Given the description of an element on the screen output the (x, y) to click on. 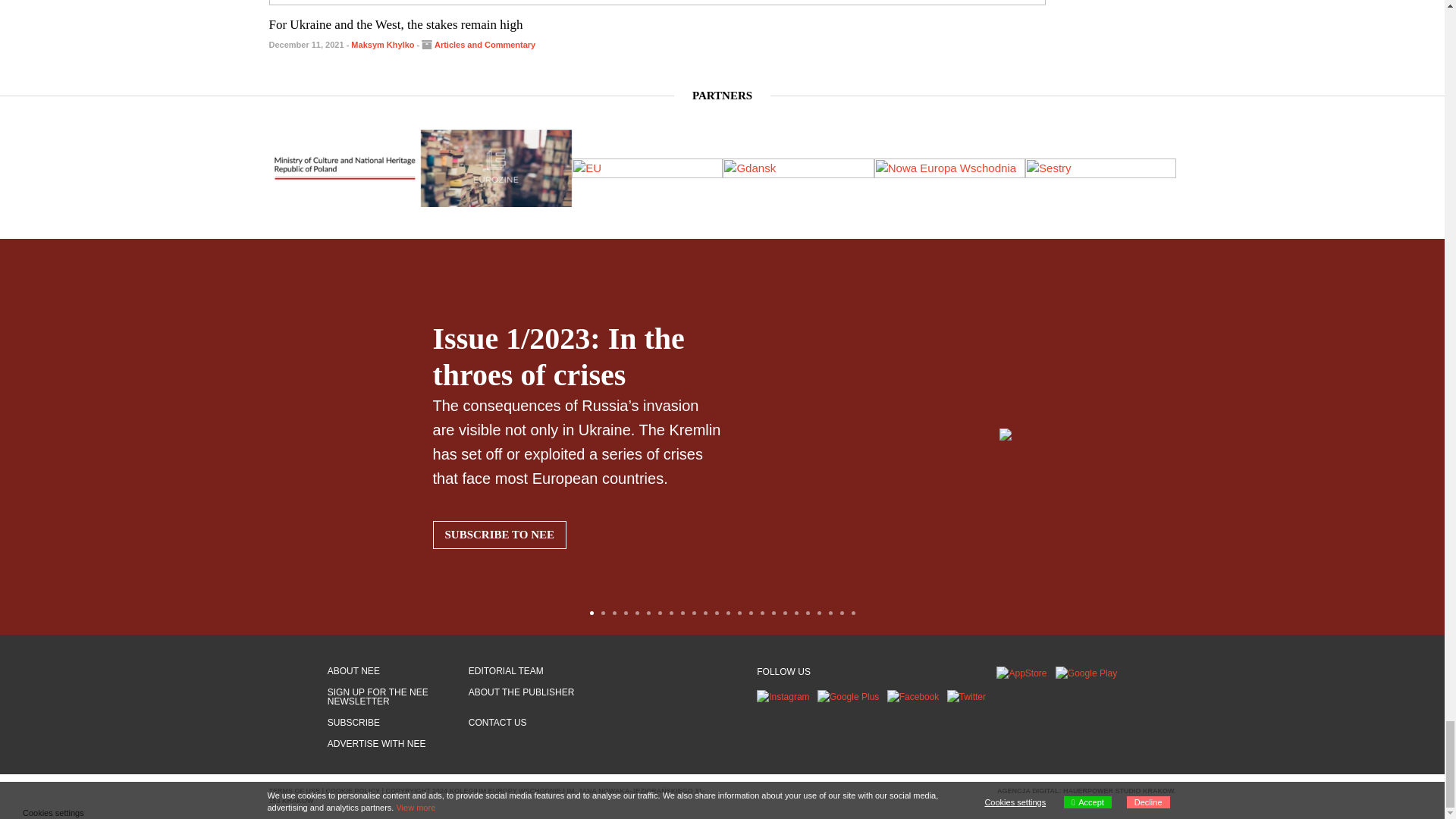
MKiDN (344, 168)
Sestry (193, 168)
For Ukraine and the West, the stakes remain high (394, 24)
